Given the description of an element on the screen output the (x, y) to click on. 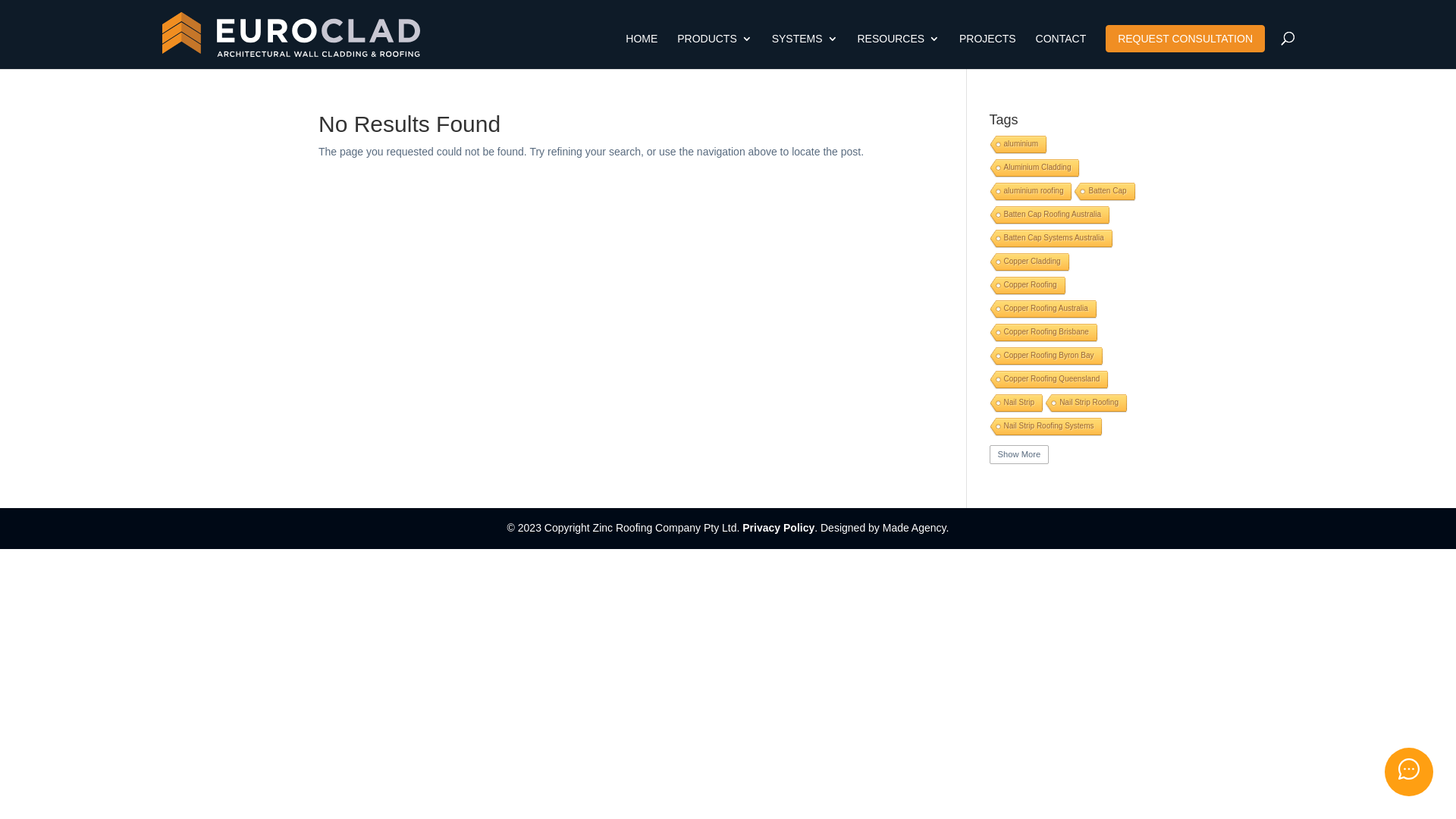
Batten Cap Roofing Australia Element type: text (1048, 215)
Copper Cladding Element type: text (1028, 262)
Batten Cap Systems Australia Element type: text (1049, 238)
Privacy Policy Element type: text (778, 527)
Nail Strip Roofing Systems Element type: text (1044, 426)
RESOURCES Element type: text (897, 51)
HOME Element type: text (641, 51)
Nail Strip Element type: text (1015, 403)
Copper Roofing Brisbane Element type: text (1042, 332)
aluminium Element type: text (1017, 144)
Copper Roofing Queensland Element type: text (1047, 379)
PRODUCTS Element type: text (714, 51)
PROJECTS Element type: text (987, 51)
aluminium roofing Element type: text (1029, 191)
Batten Cap Element type: text (1102, 191)
CONTACT Element type: text (1060, 51)
Aluminium Cladding Element type: text (1033, 168)
Copper Roofing Element type: text (1026, 285)
Nail Strip Roofing Element type: text (1084, 403)
Copper Roofing Australia Element type: text (1041, 309)
SYSTEMS Element type: text (804, 51)
Show More Element type: text (1019, 454)
Copper Roofing Byron Bay Element type: text (1044, 356)
REQUEST CONSULTATION Element type: text (1185, 38)
